Given the description of an element on the screen output the (x, y) to click on. 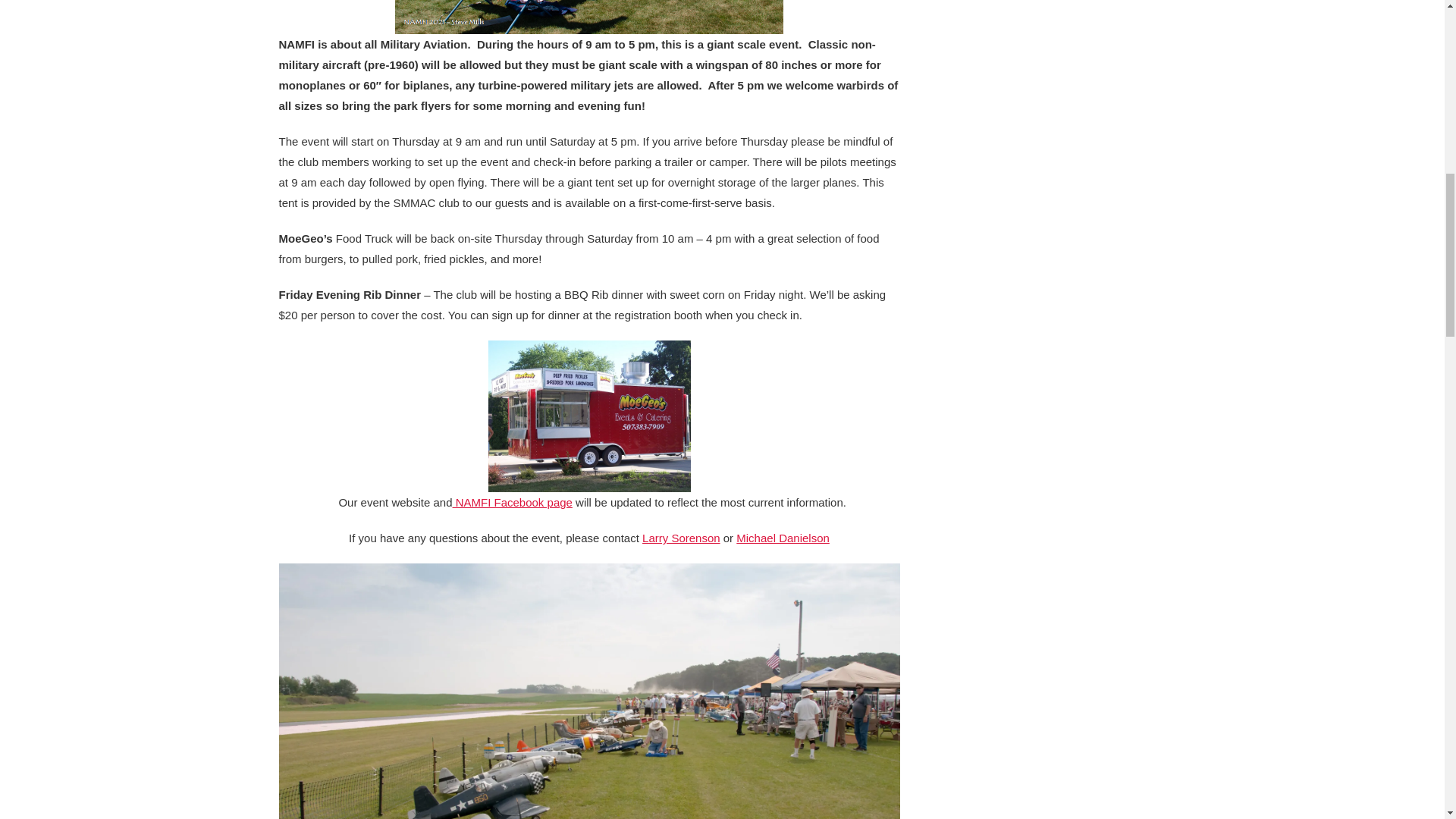
Michael Danielson (782, 537)
NAMFI Facebook page (511, 502)
Larry Sorenson (681, 537)
